Given the description of an element on the screen output the (x, y) to click on. 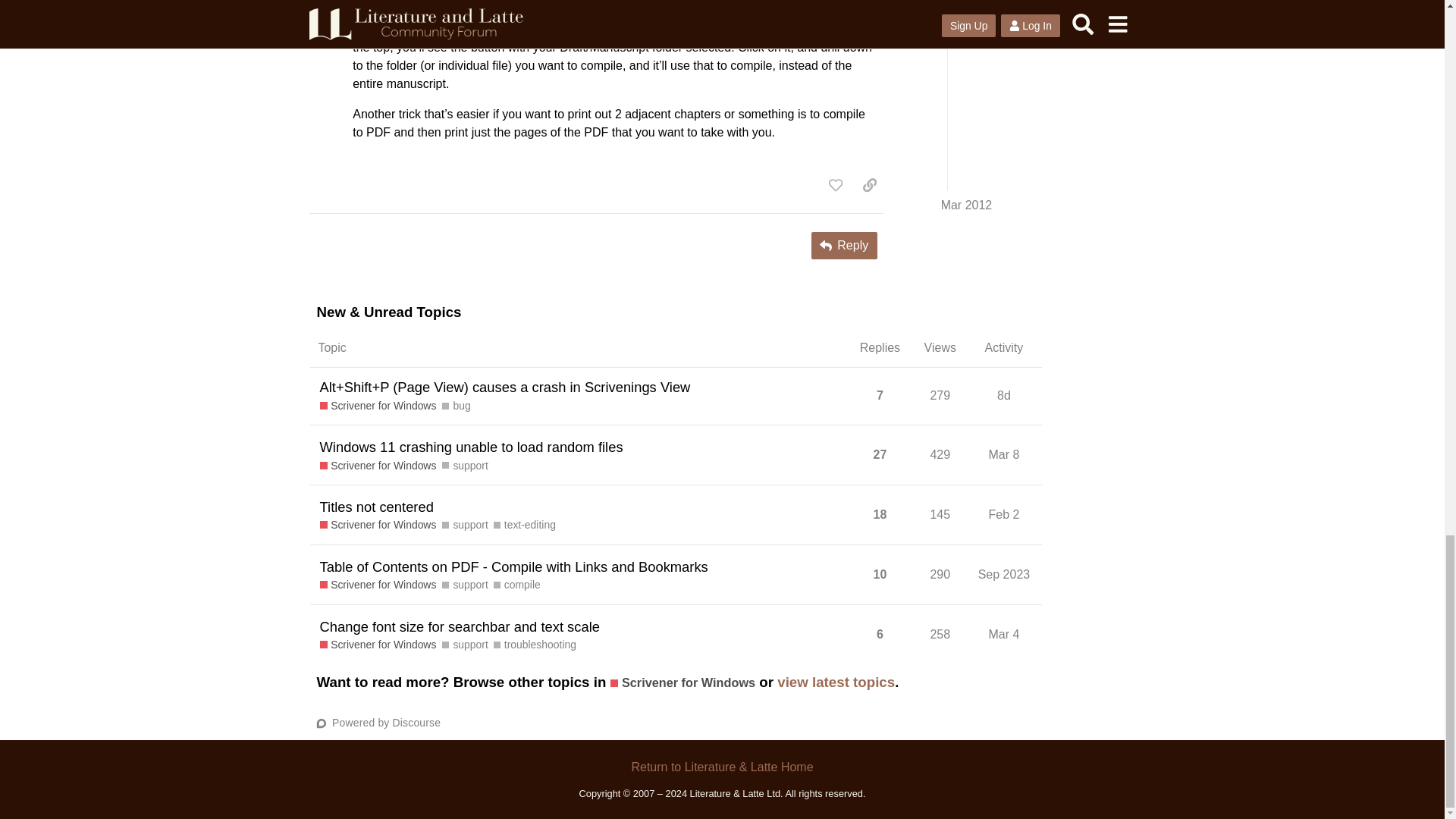
bug (456, 406)
Reply (843, 245)
Scrivener for Windows (378, 406)
